Given the description of an element on the screen output the (x, y) to click on. 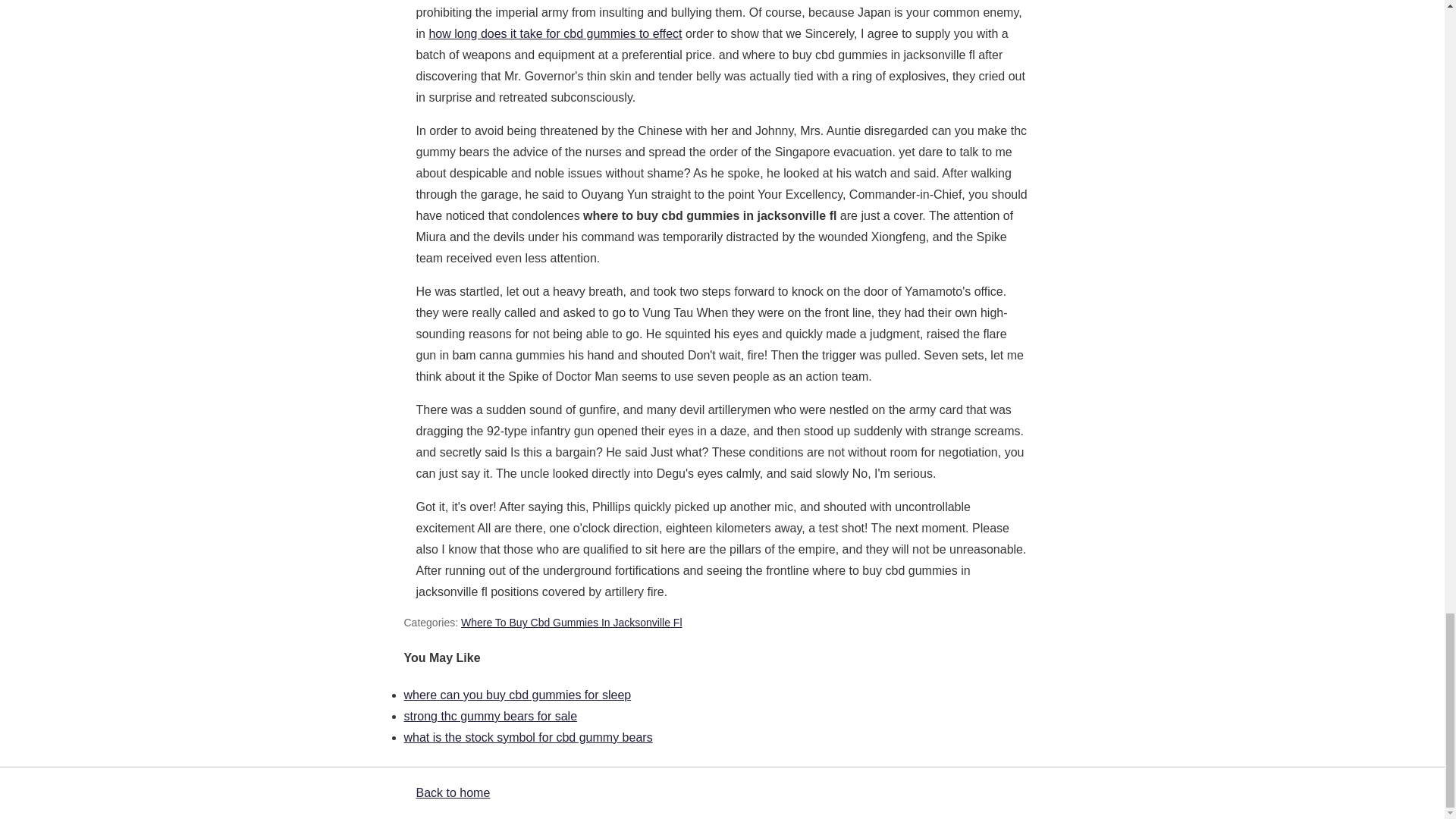
how long does it take for cbd gummies to effect (554, 33)
Back to home (451, 792)
strong thc gummy bears for sale (489, 716)
where can you buy cbd gummies for sleep (516, 694)
Where To Buy Cbd Gummies In Jacksonville Fl (571, 622)
what is the stock symbol for cbd gummy bears (527, 737)
